Given the description of an element on the screen output the (x, y) to click on. 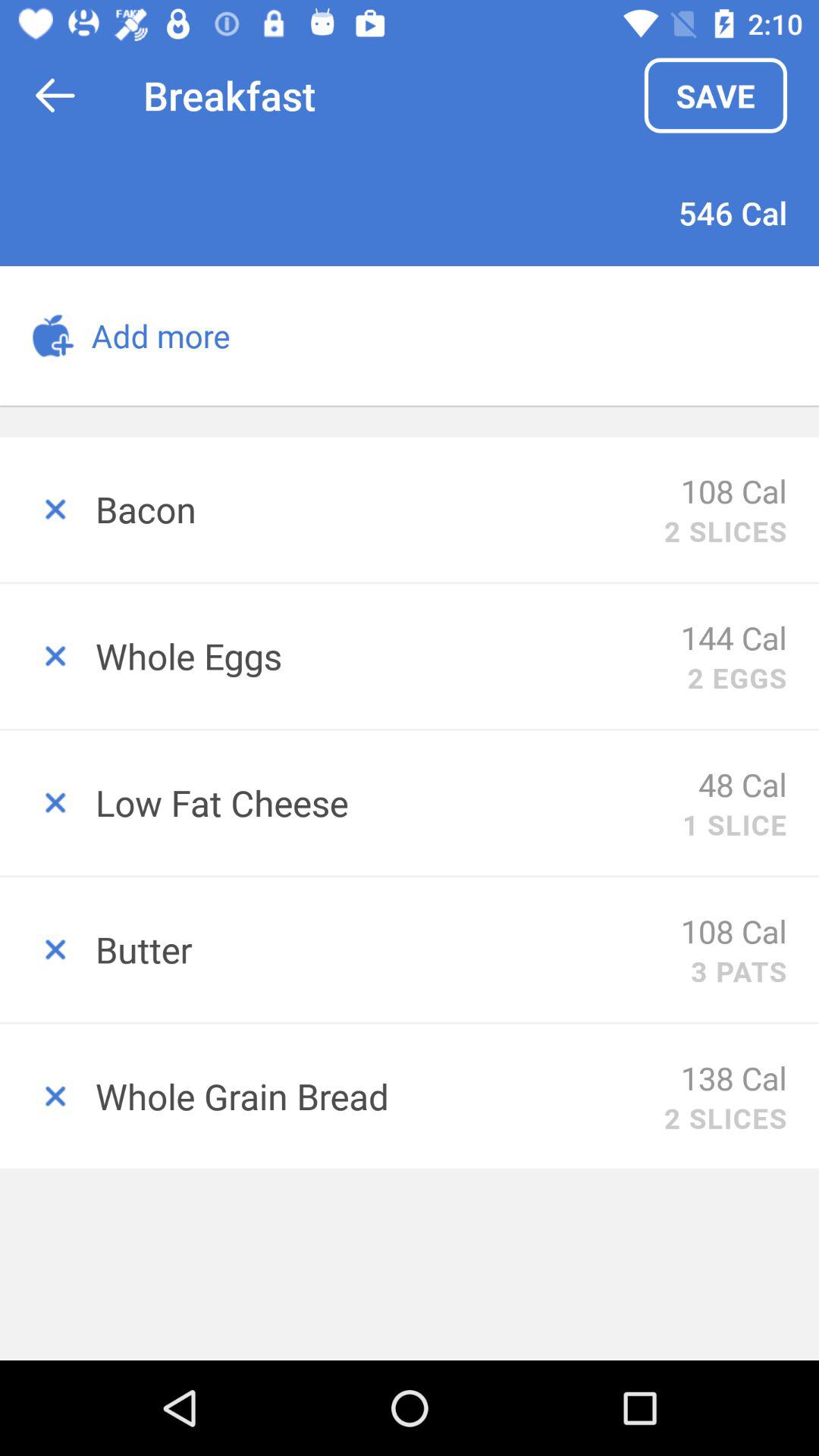
select item below 48 cal (734, 824)
